Given the description of an element on the screen output the (x, y) to click on. 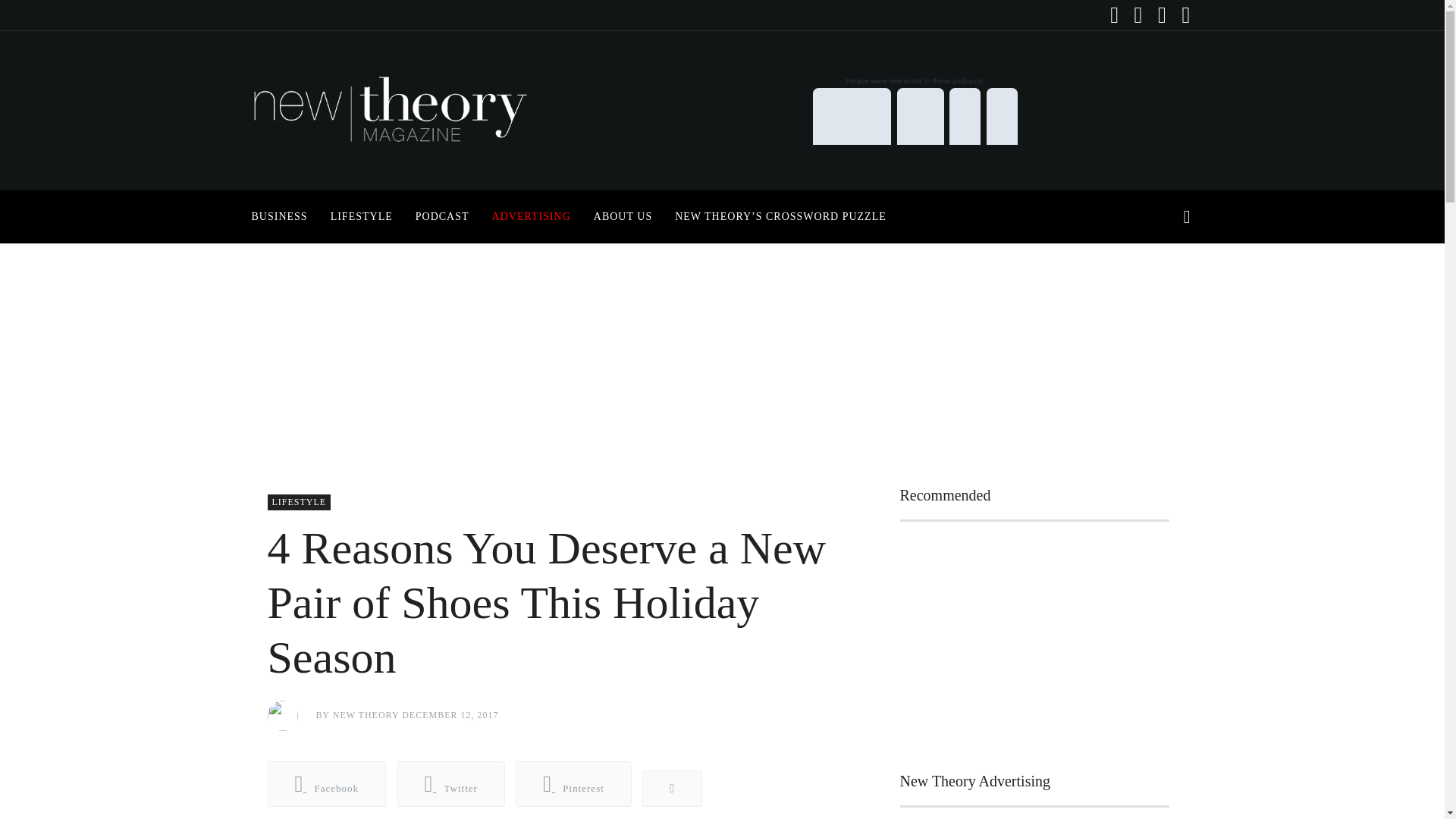
View all posts in 3385 (298, 502)
Advertisement (1034, 643)
